Given the description of an element on the screen output the (x, y) to click on. 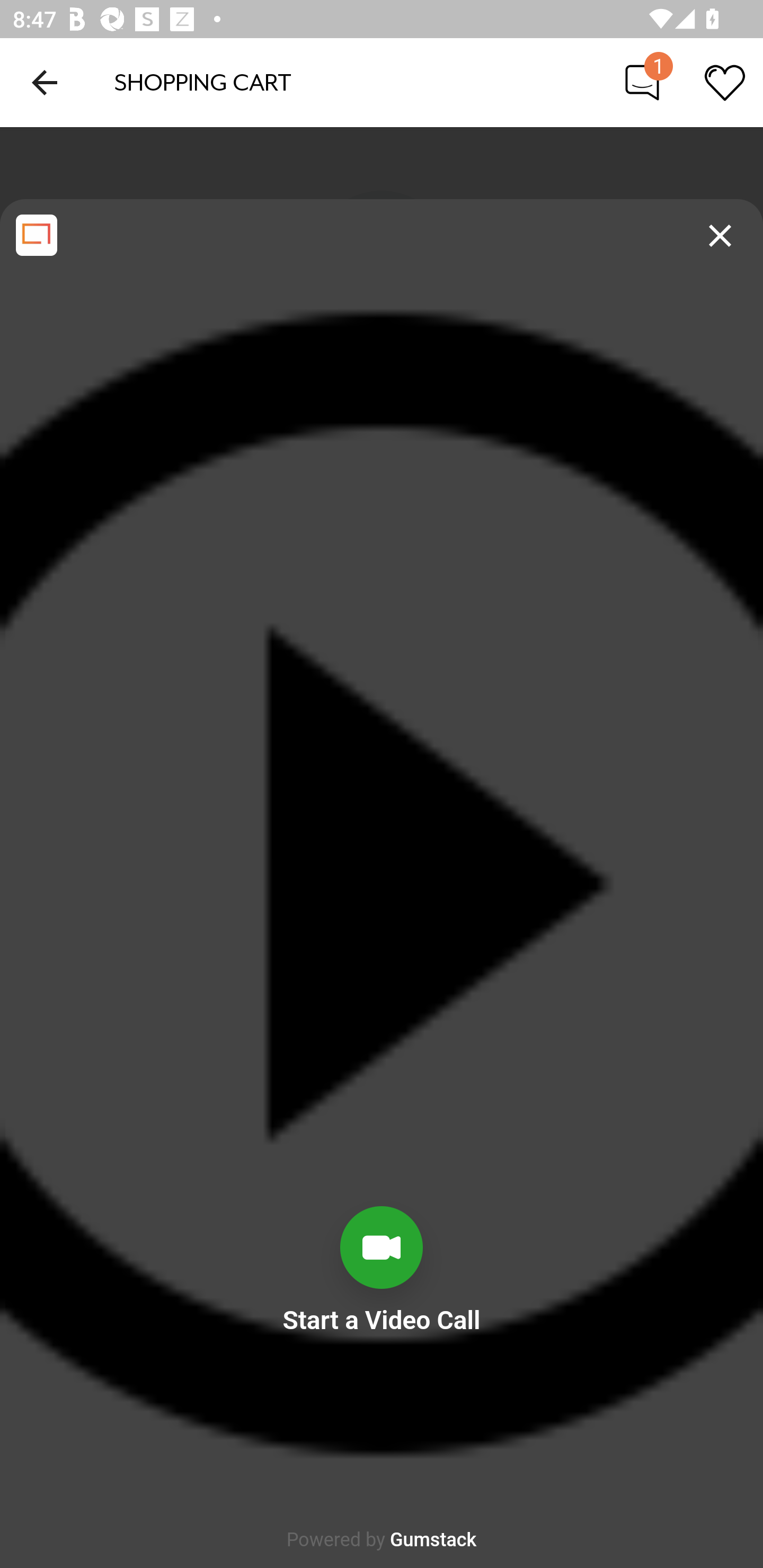
Navigate up (44, 82)
Chat (641, 81)
Wishlist (724, 81)
clear (720, 235)
 Start a Video Call (381, 1386)
Gumstack (432, 1540)
